Given the description of an element on the screen output the (x, y) to click on. 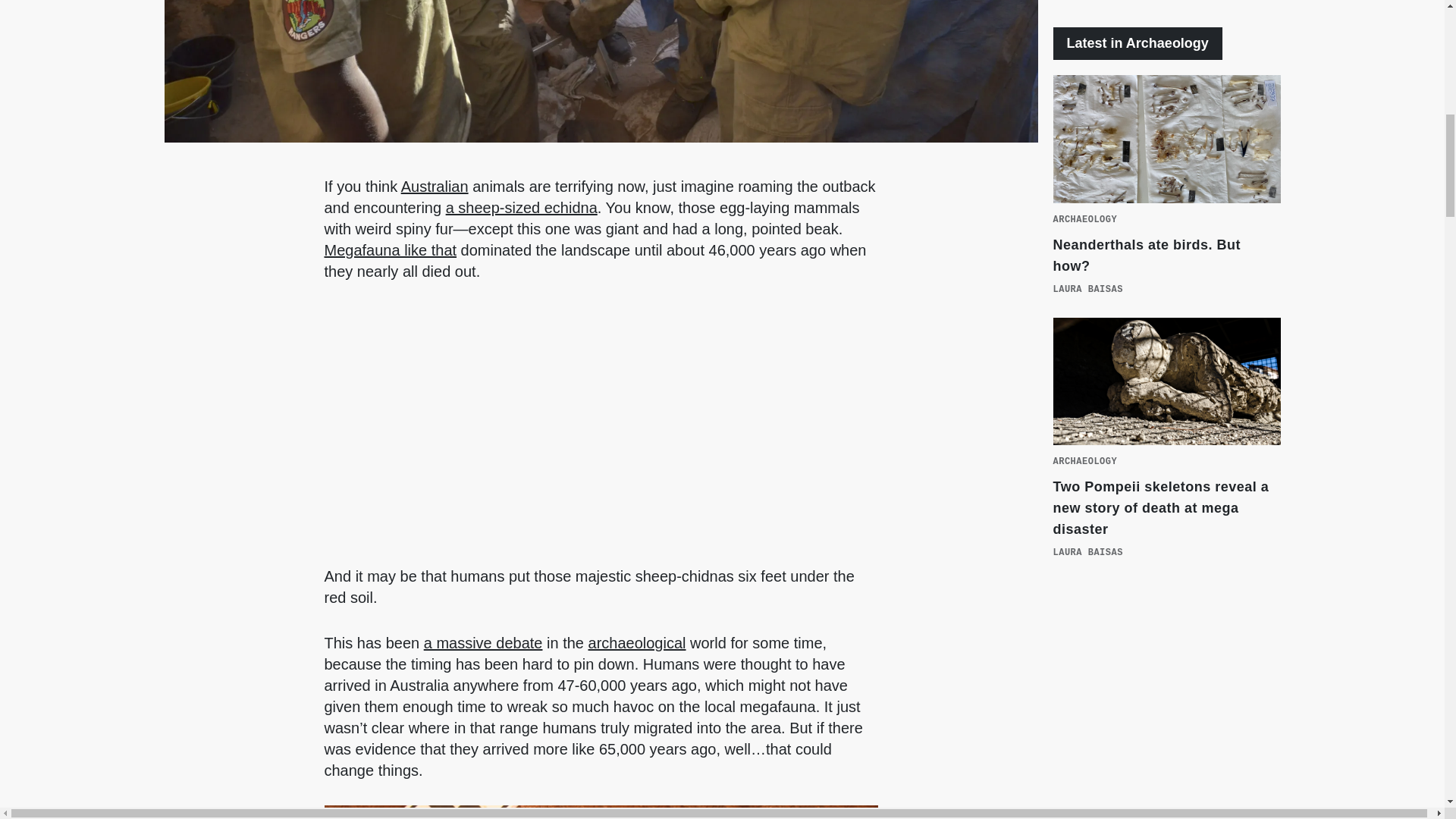
3rd party ad content (1165, 718)
